Given the description of an element on the screen output the (x, y) to click on. 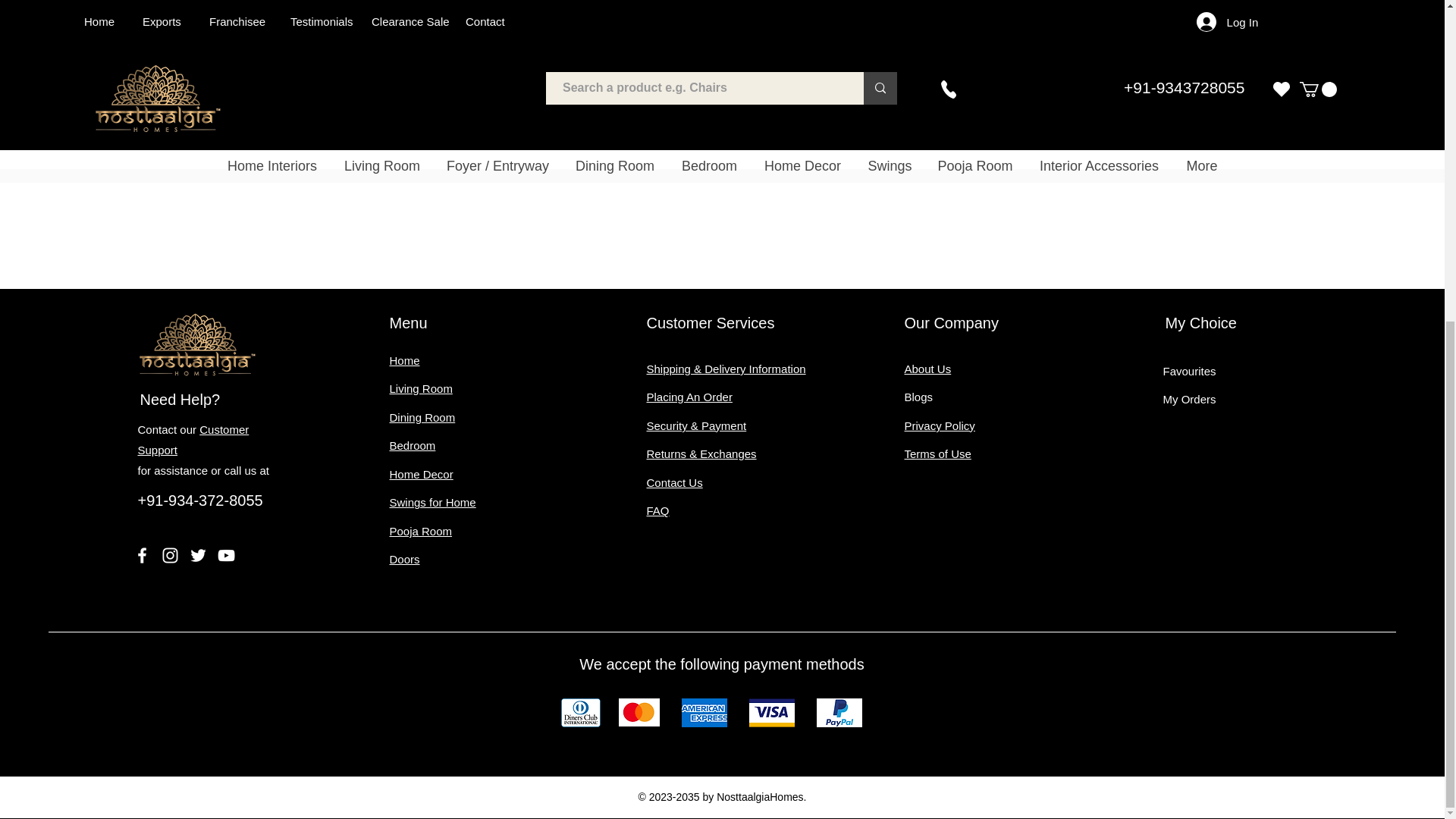
logo.png (197, 344)
